Given the description of an element on the screen output the (x, y) to click on. 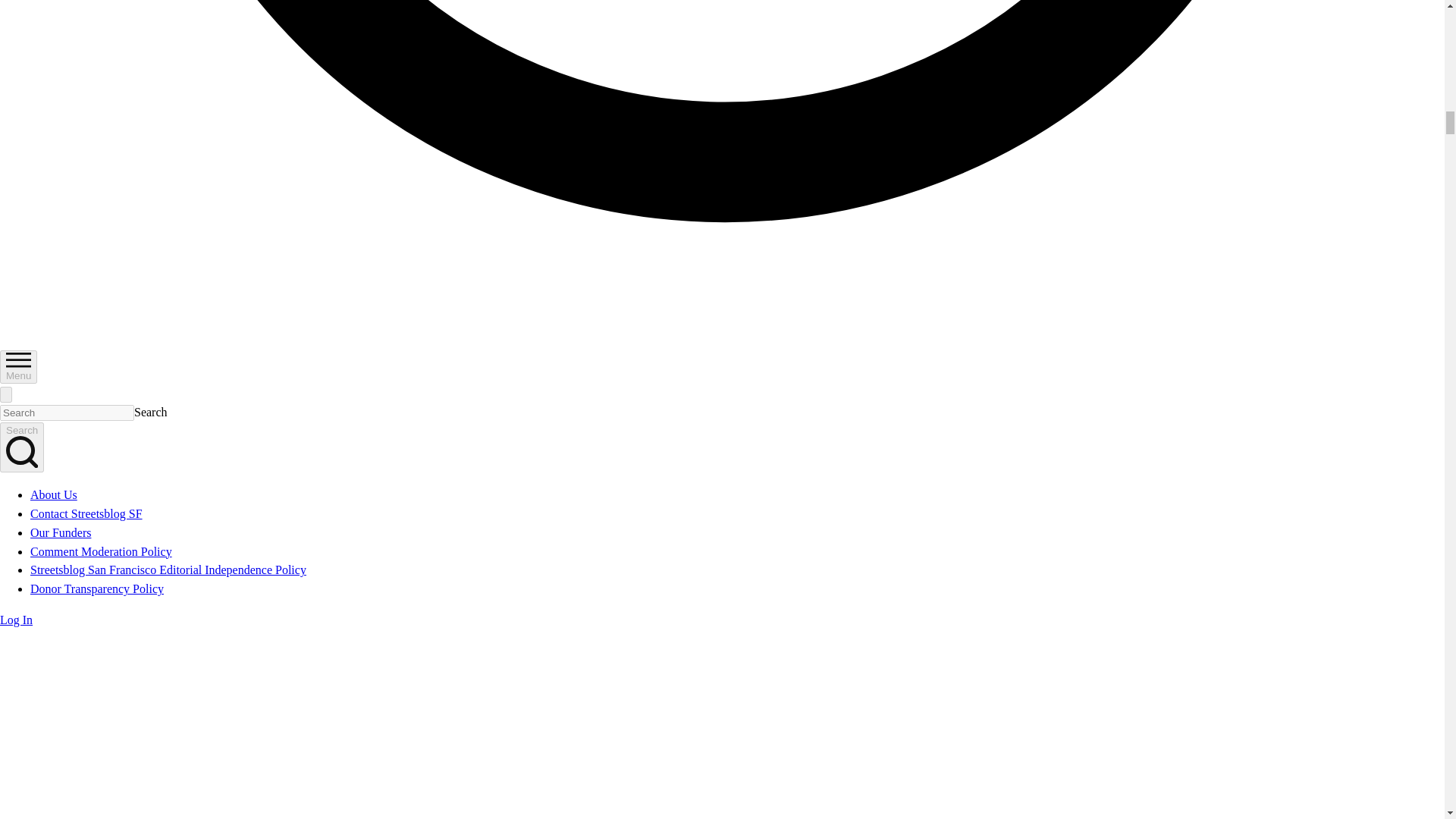
Contact Streetsblog SF (86, 513)
Donor Transparency Policy (96, 588)
About Us (53, 494)
Menu (18, 366)
Search (21, 447)
Comment Moderation Policy (100, 551)
Streetsblog San Francisco Editorial Independence Policy (167, 569)
Our Funders (60, 532)
